Given the description of an element on the screen output the (x, y) to click on. 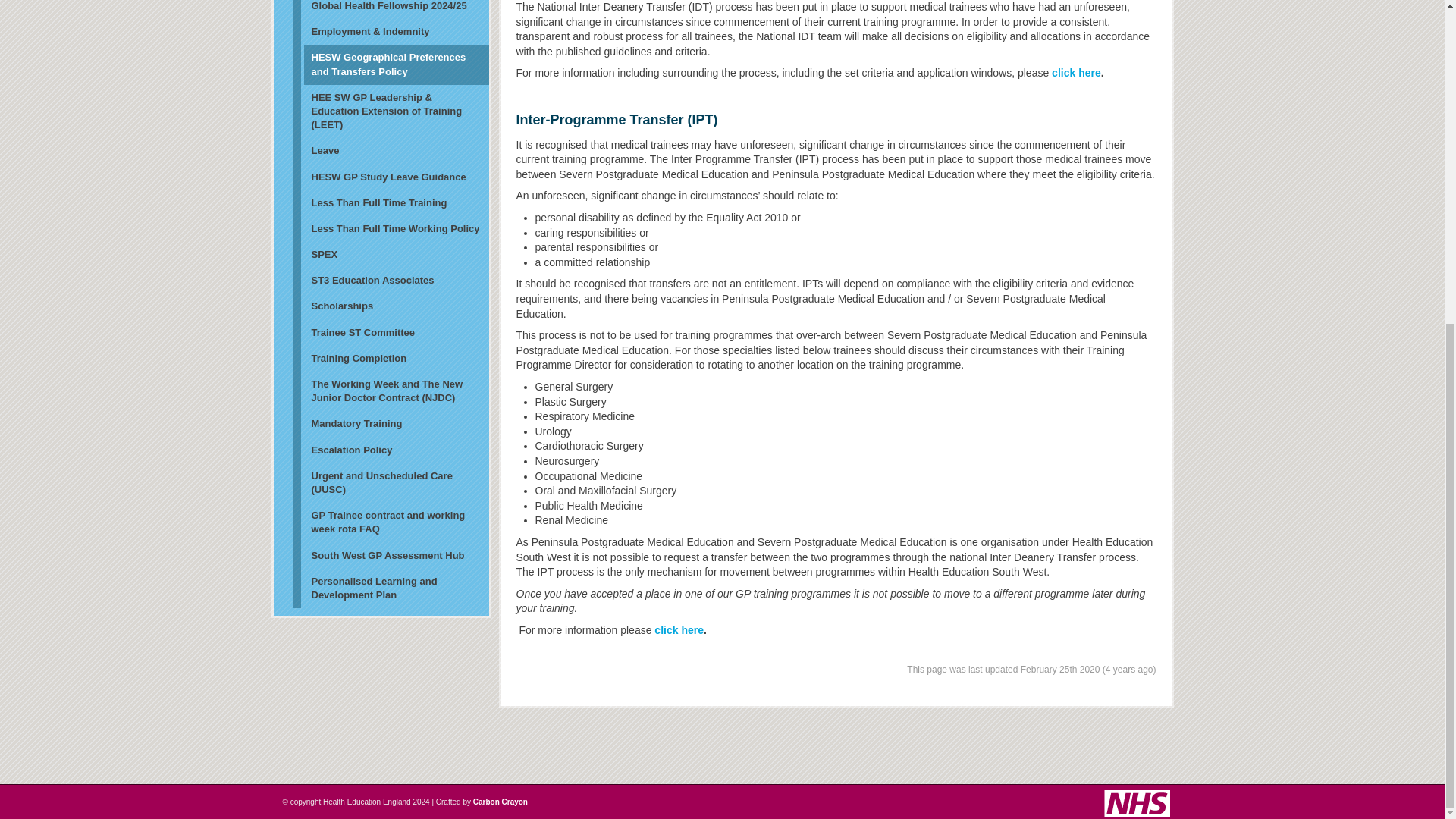
Leave (389, 150)
Trainee ST Committee (389, 332)
Mandatory Training (389, 423)
HESW Geographical Preferences and Transfers Policy (389, 64)
SPEX (389, 254)
HESW GP Study Leave Guidance (389, 177)
Training Completion (389, 358)
Escalation Policy (389, 450)
ST3 Education Associates (389, 280)
Less Than Full Time Training (389, 203)
